Given the description of an element on the screen output the (x, y) to click on. 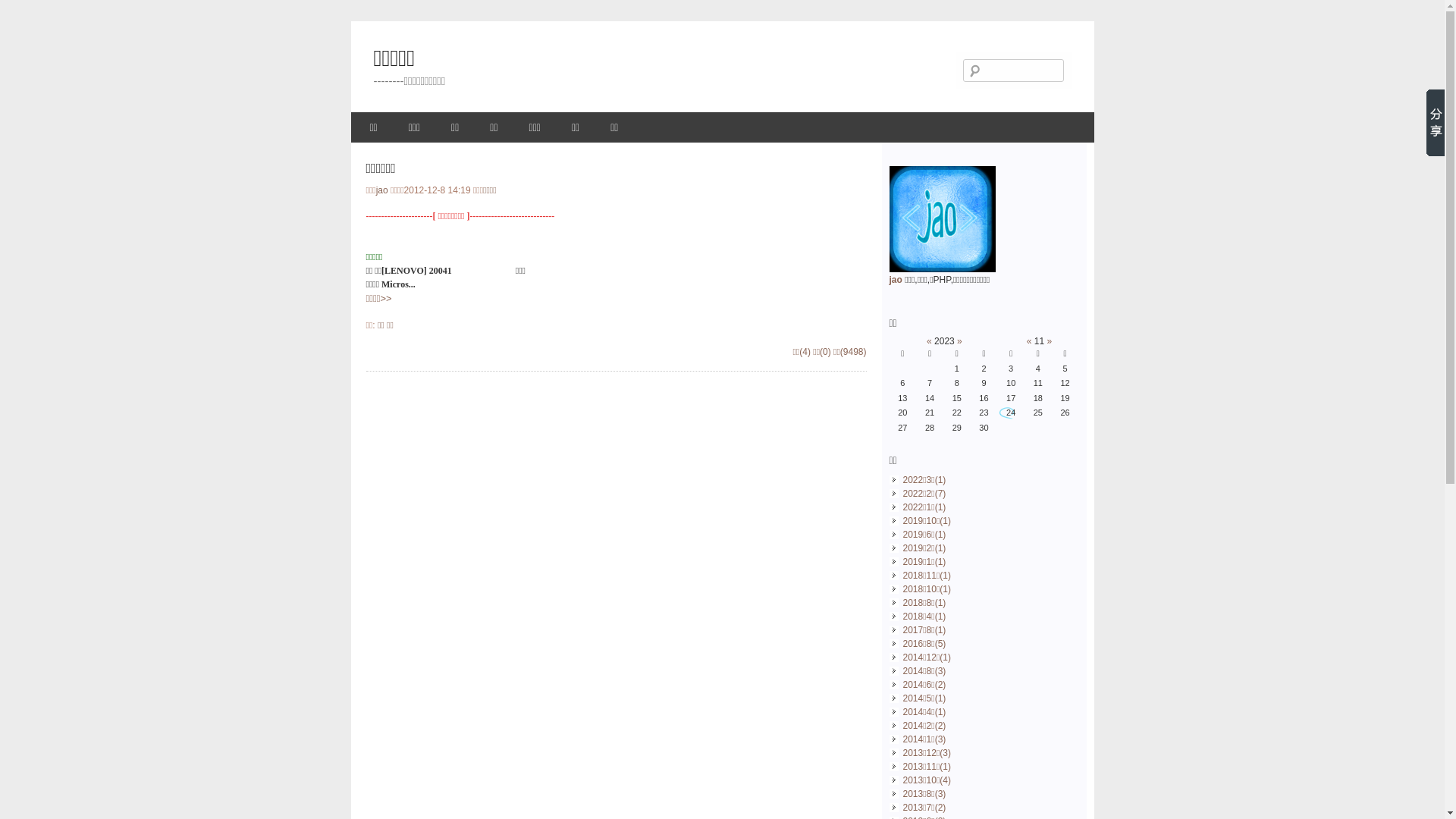
jao Element type: text (894, 279)
jao Element type: text (382, 190)
